Given the description of an element on the screen output the (x, y) to click on. 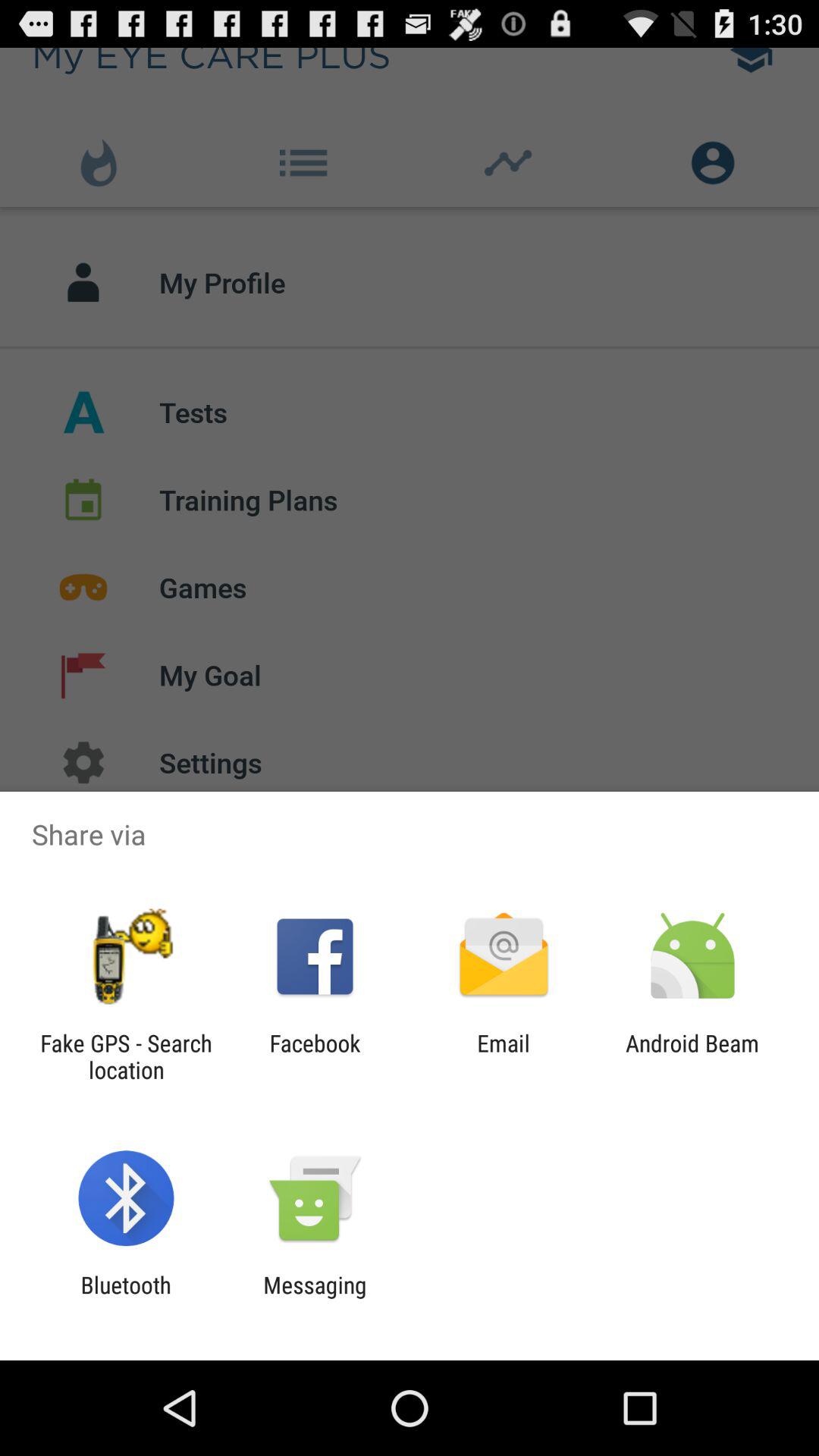
turn off item to the right of the facebook (503, 1056)
